Given the description of an element on the screen output the (x, y) to click on. 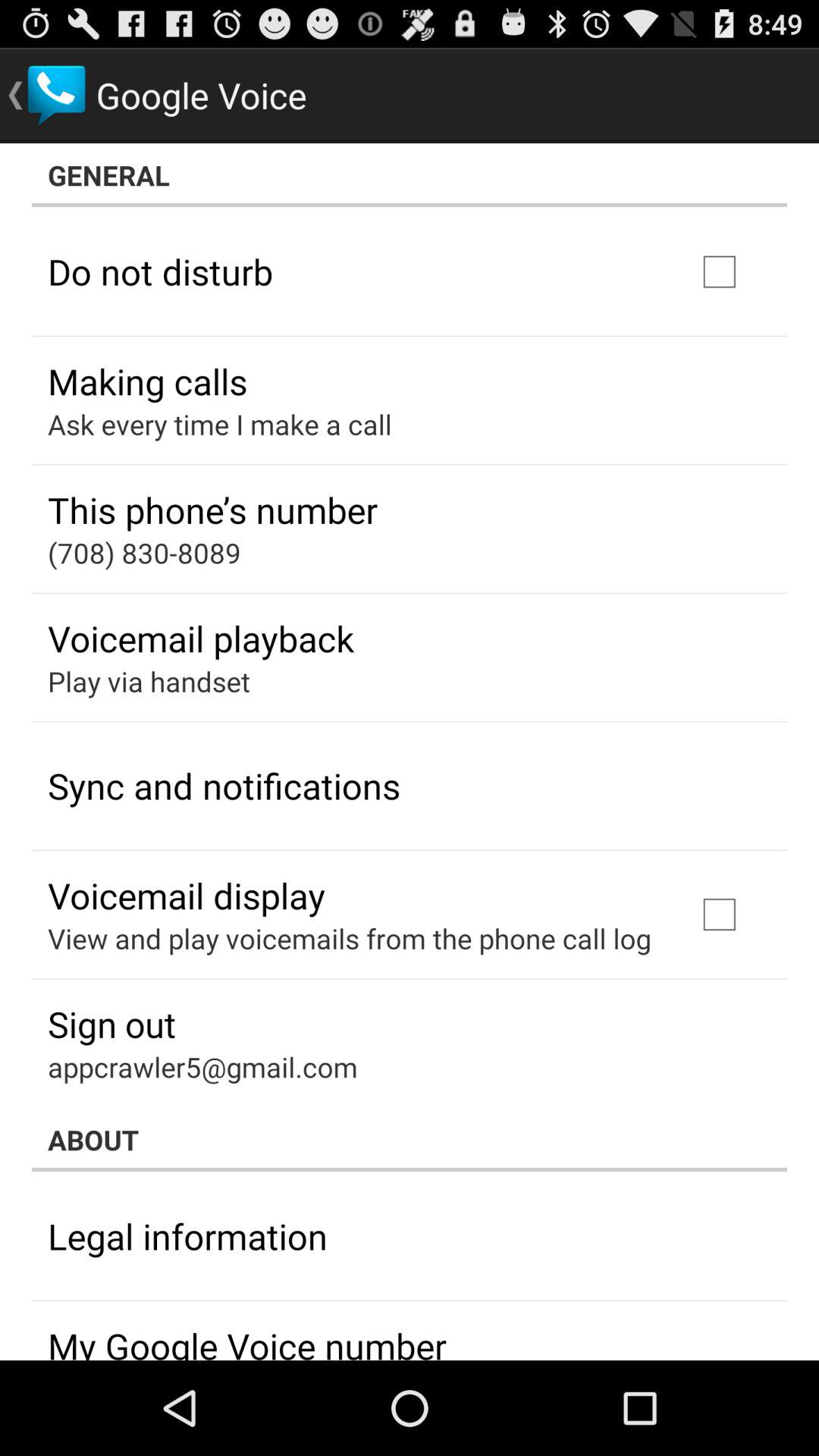
launch the icon below the general app (160, 271)
